Given the description of an element on the screen output the (x, y) to click on. 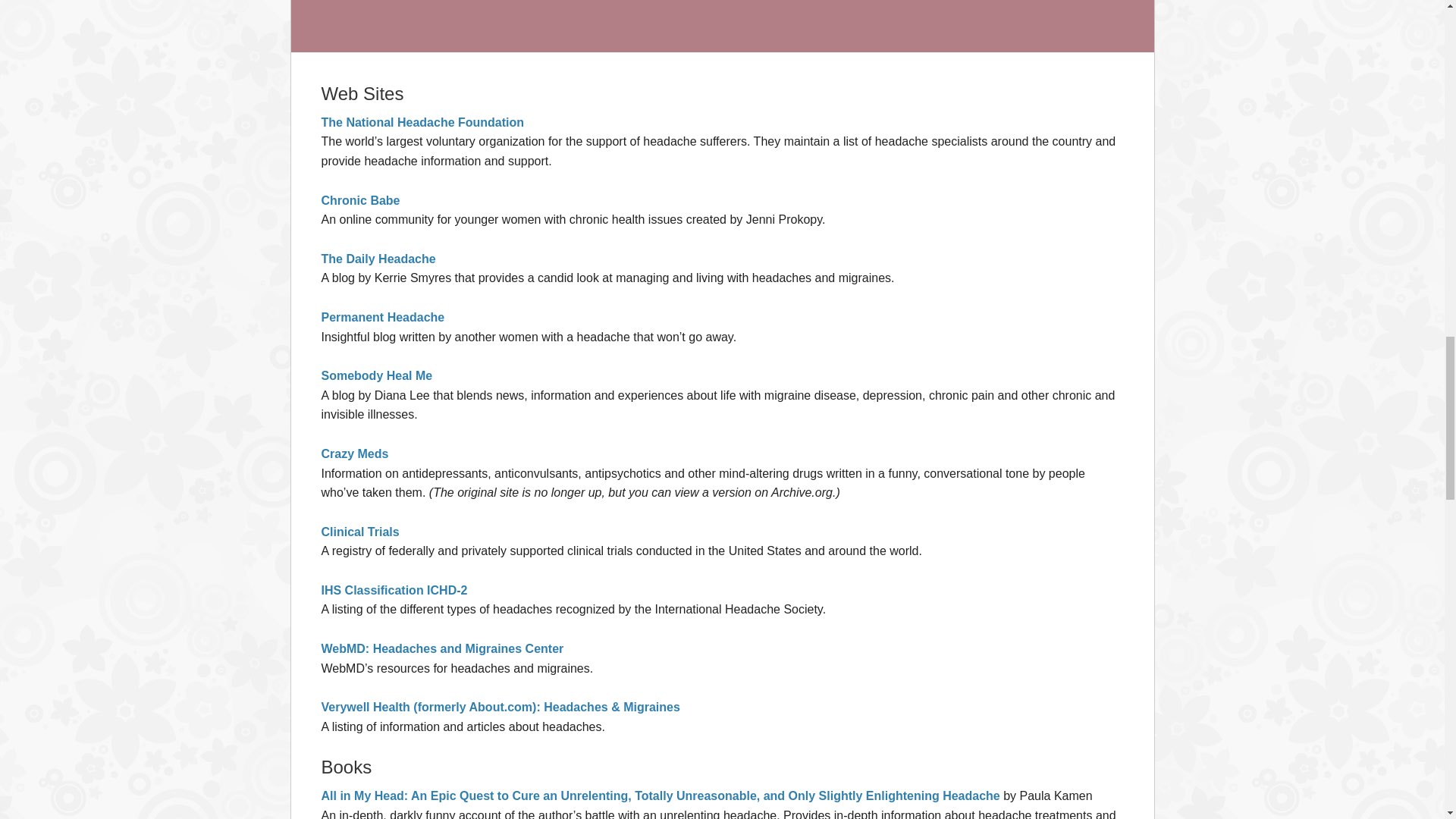
Somebody Heal Me (376, 375)
Permanent Headache (383, 317)
WebMD: Headaches and Migraines Center (442, 648)
The National Headache Foundation (422, 122)
Crazy Meds (354, 453)
The Daily Headache (378, 258)
Clinical Trials (359, 531)
Chronic Babe (360, 200)
IHS Classification ICHD-2 (394, 590)
